Given the description of an element on the screen output the (x, y) to click on. 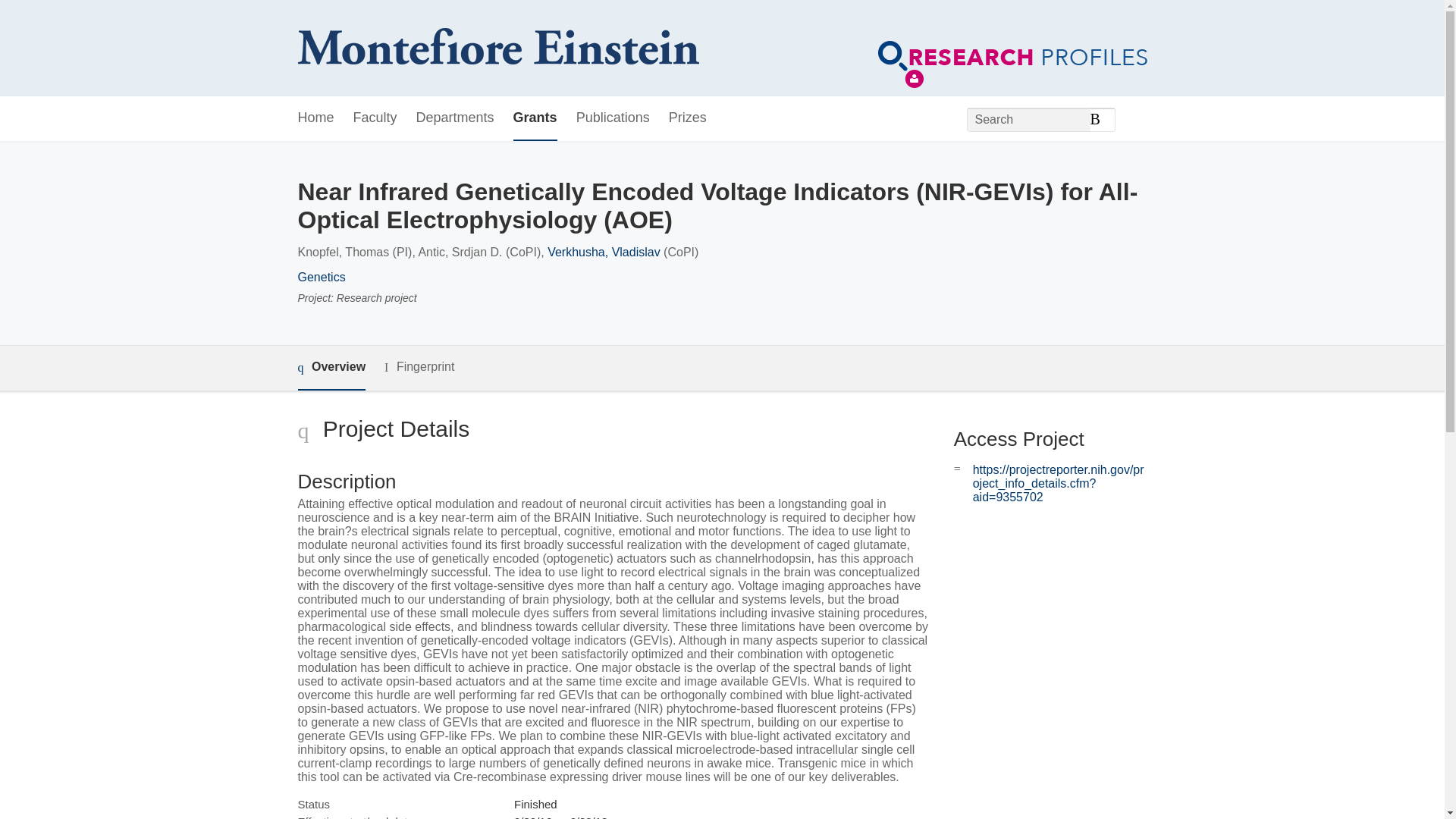
Genetics (321, 277)
Grants (535, 118)
Departments (455, 118)
Fingerprint (419, 367)
Publications (612, 118)
Albert Einstein College of Medicine Home (497, 48)
Verkhusha, Vladislav (604, 251)
Overview (331, 367)
Faculty (375, 118)
